Given the description of an element on the screen output the (x, y) to click on. 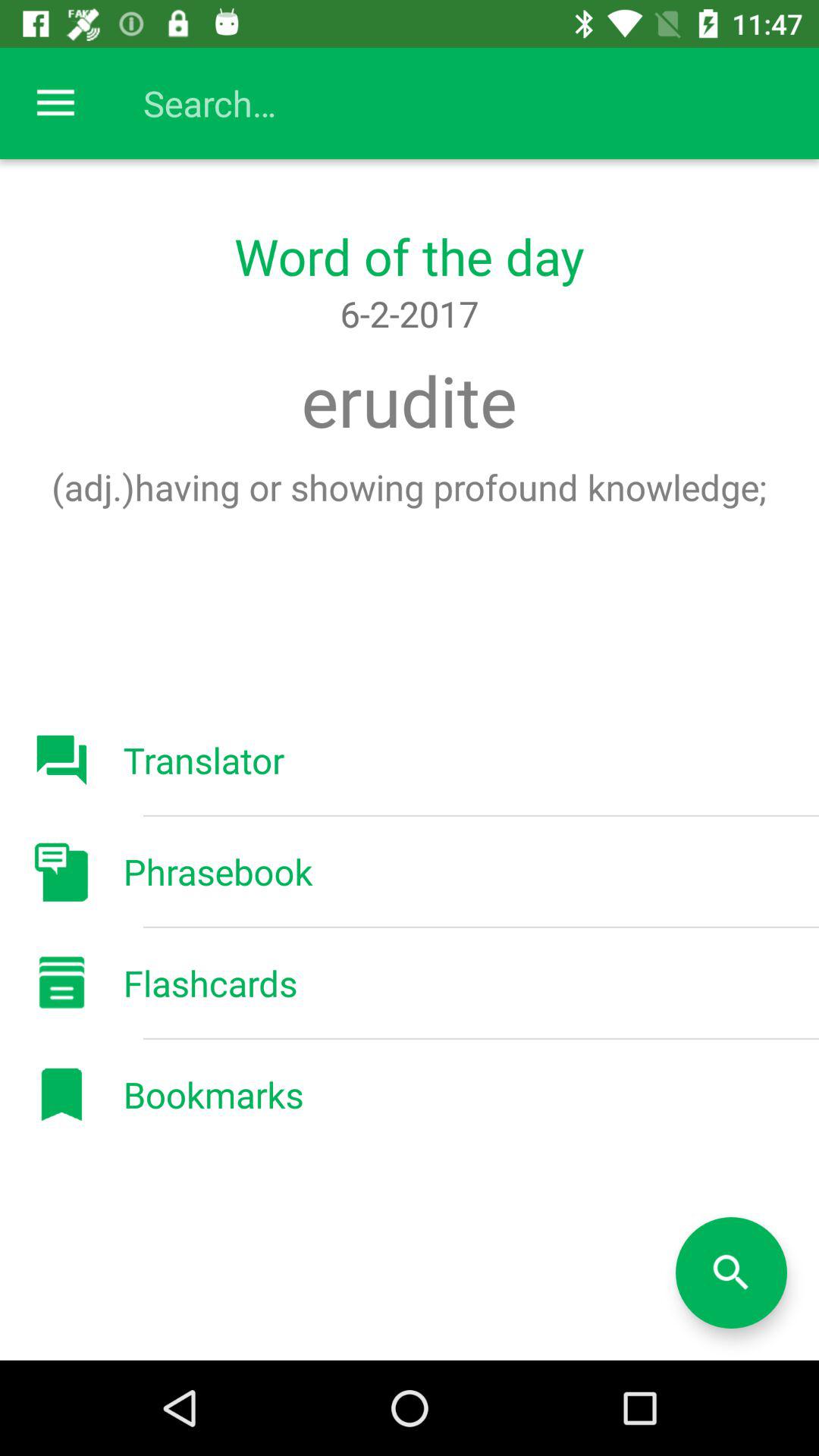
turn on the item at the bottom right corner (731, 1272)
